Given the description of an element on the screen output the (x, y) to click on. 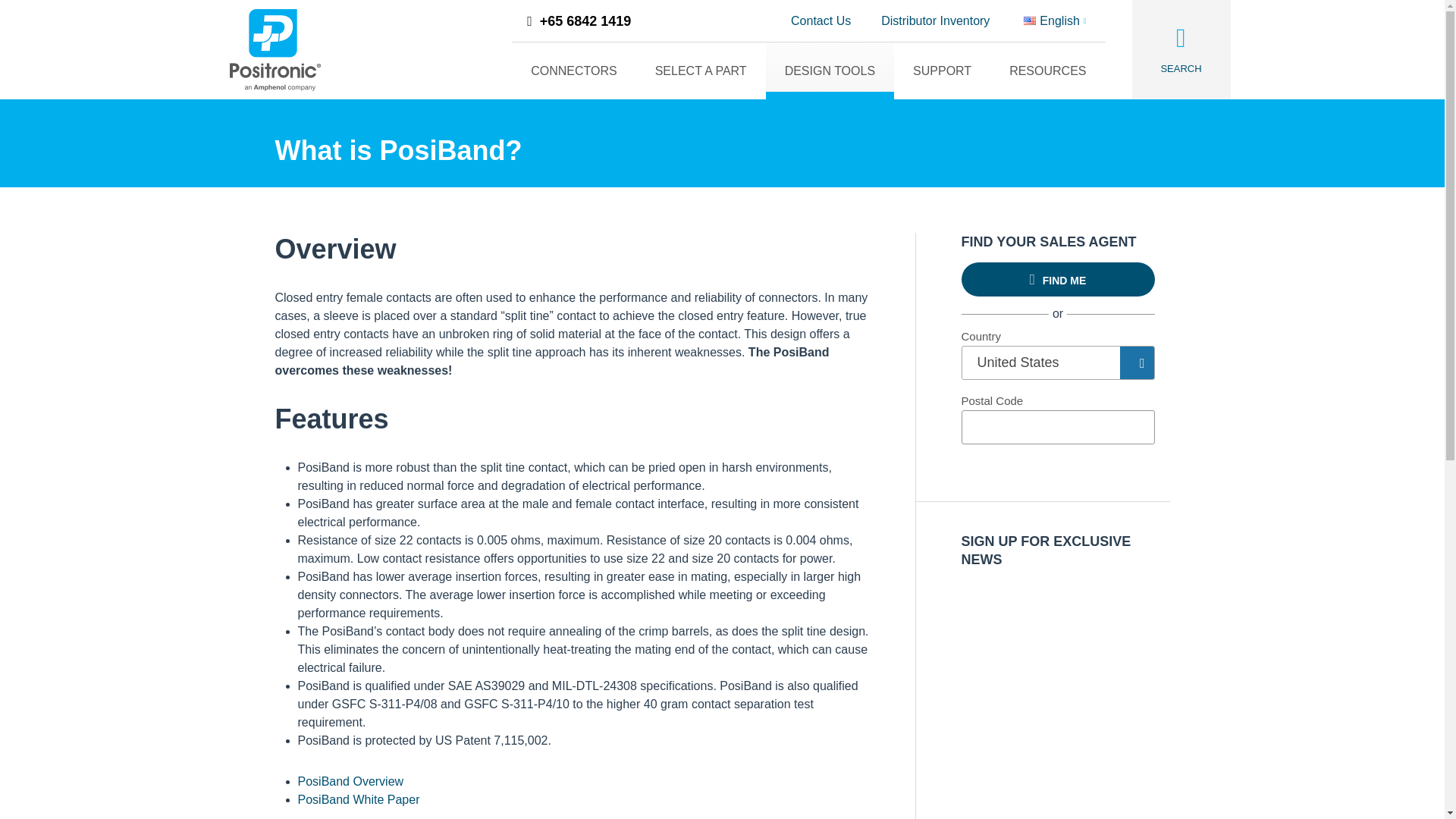
SUPPORT (941, 70)
CONNECTORS (574, 70)
Positronic (274, 48)
Form 0 (1057, 669)
Distributor Inventory (935, 20)
Contact Us (821, 20)
Back home. (274, 48)
DESIGN TOOLS (829, 70)
English (1054, 20)
RESOURCES (1047, 70)
